Given the description of an element on the screen output the (x, y) to click on. 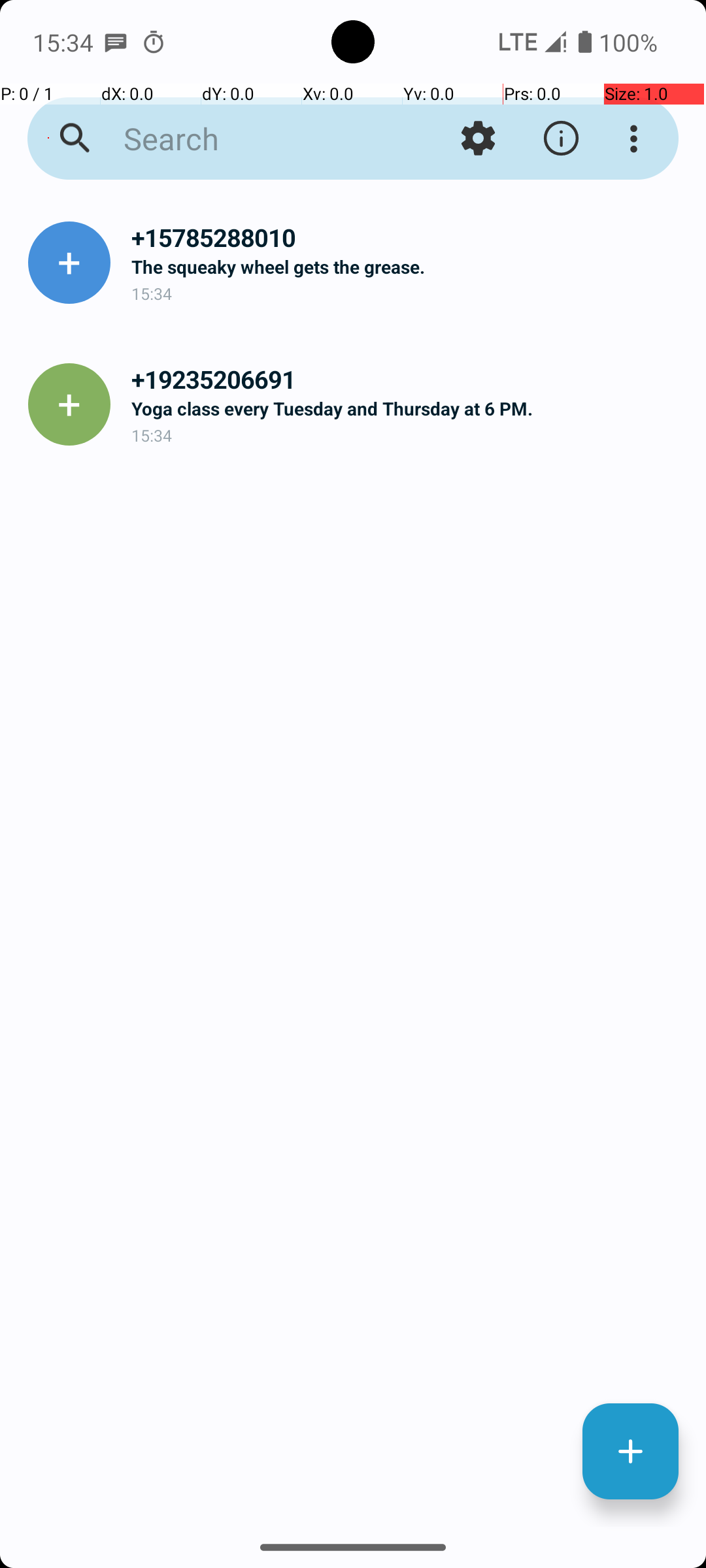
+15785288010 Element type: android.widget.TextView (408, 237)
The squeaky wheel gets the grease. Element type: android.widget.TextView (408, 266)
+19235206691 Element type: android.widget.TextView (408, 378)
Yoga class every Tuesday and Thursday at 6 PM. Element type: android.widget.TextView (408, 407)
